Given the description of an element on the screen output the (x, y) to click on. 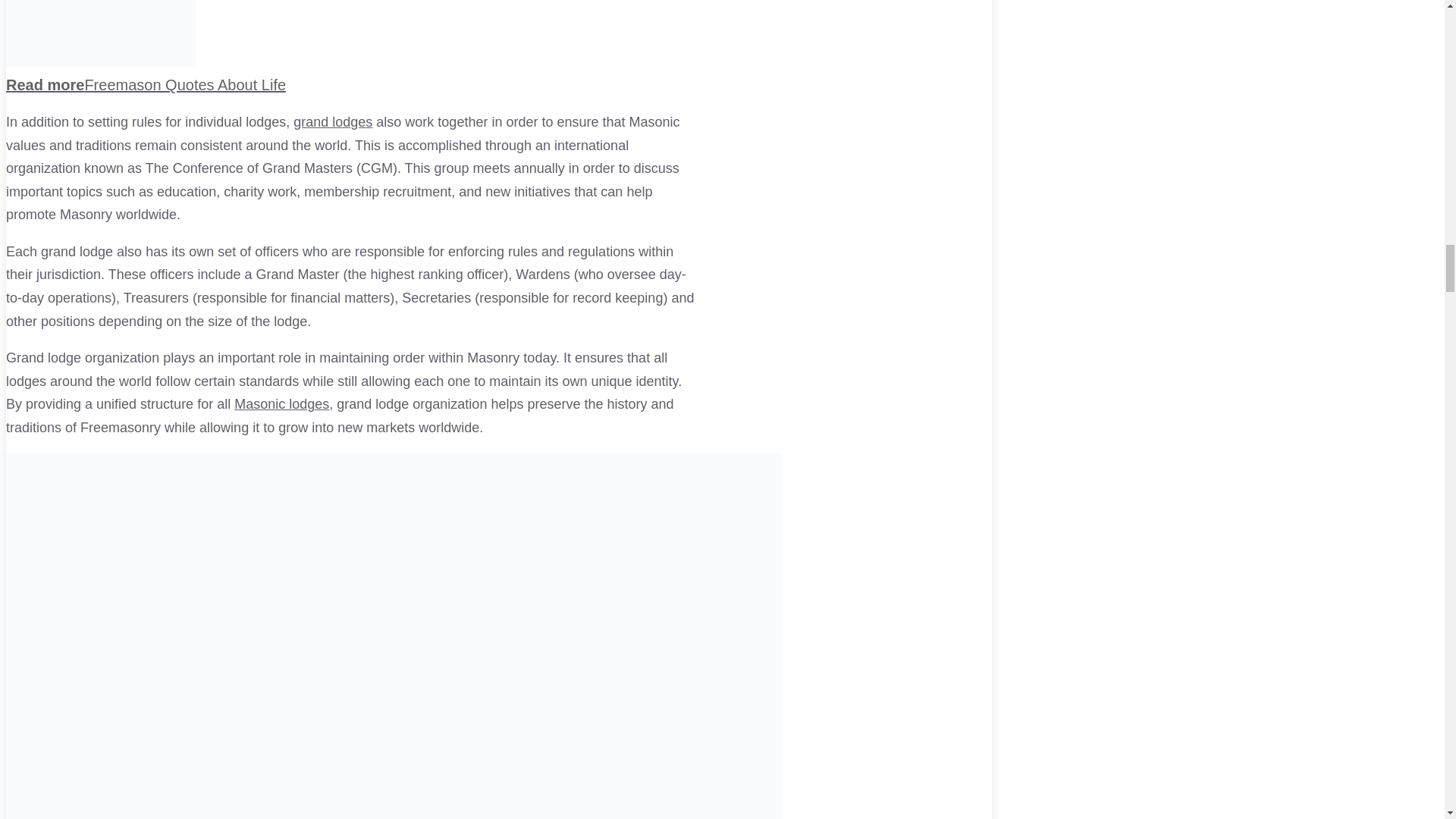
Grand Lodge Of Freemasons (333, 121)
Knights Templar Masonic Lodge (281, 403)
